Given the description of an element on the screen output the (x, y) to click on. 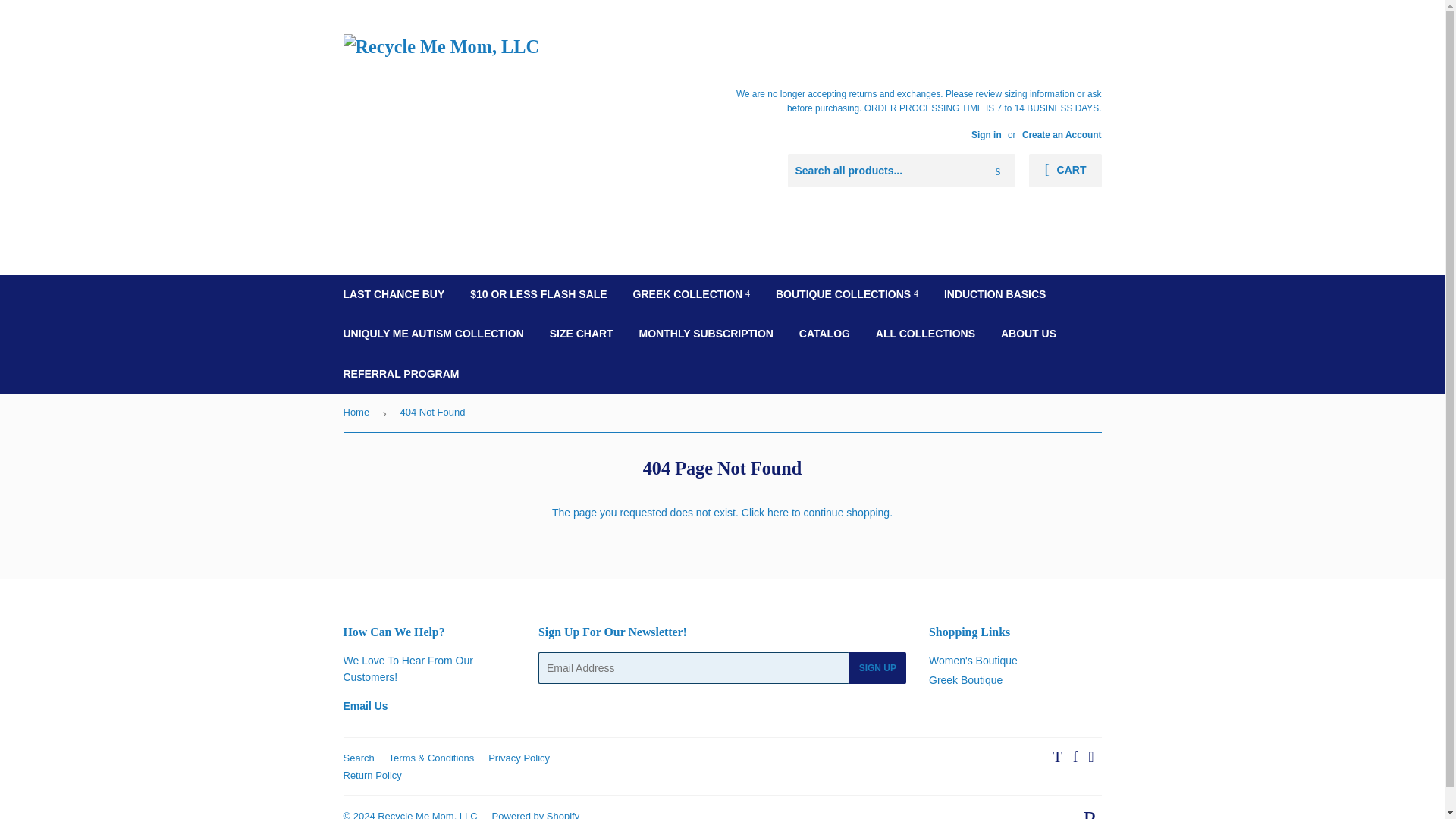
GREEK COLLECTION (691, 293)
Search (997, 171)
LAST CHANCE BUY (394, 293)
Sign in (986, 134)
Create an Account (1062, 134)
CART (1064, 170)
